Given the description of an element on the screen output the (x, y) to click on. 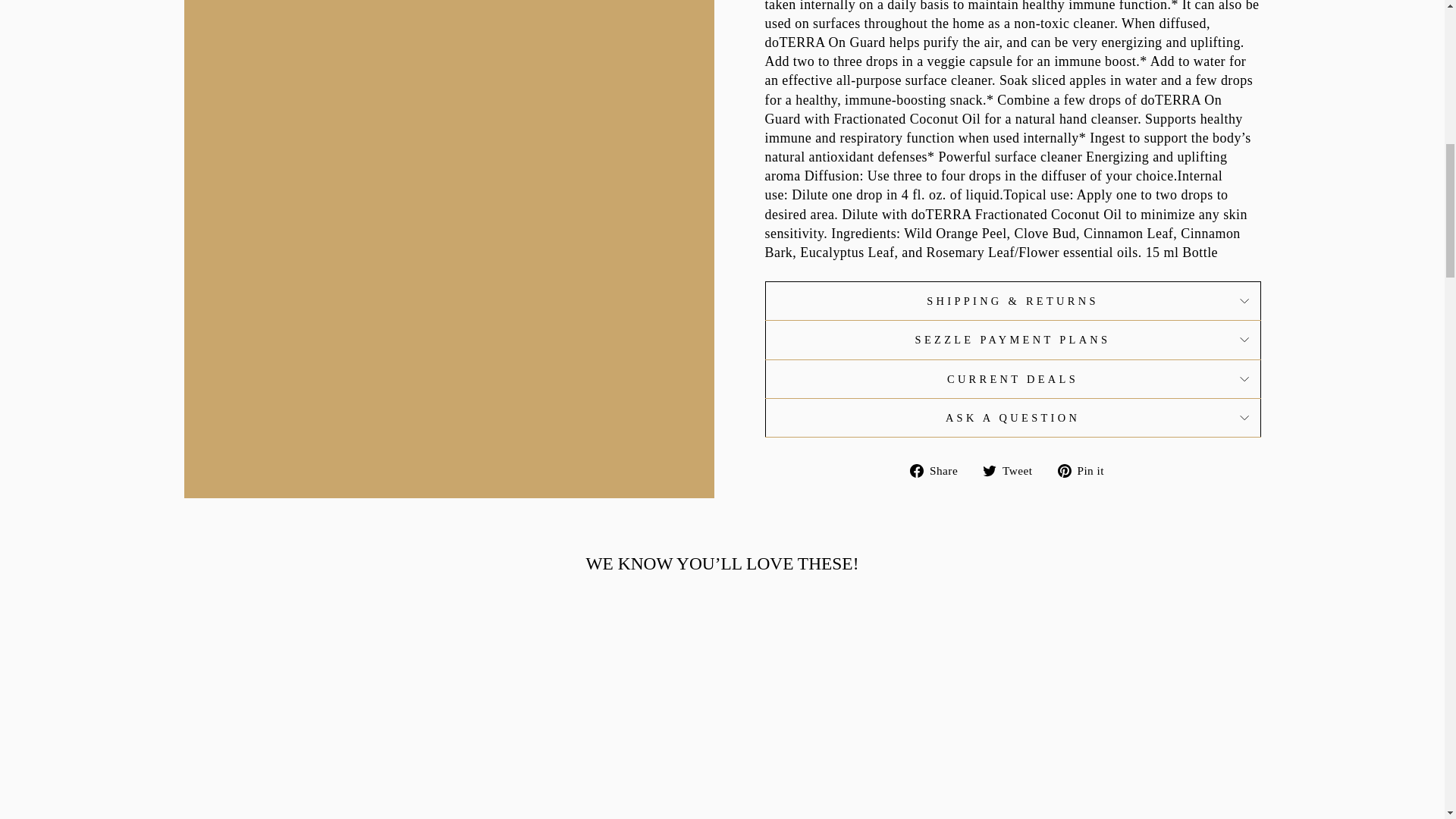
Share on Facebook (939, 469)
Pin on Pinterest (1086, 469)
Tweet on Twitter (1012, 469)
